Given the description of an element on the screen output the (x, y) to click on. 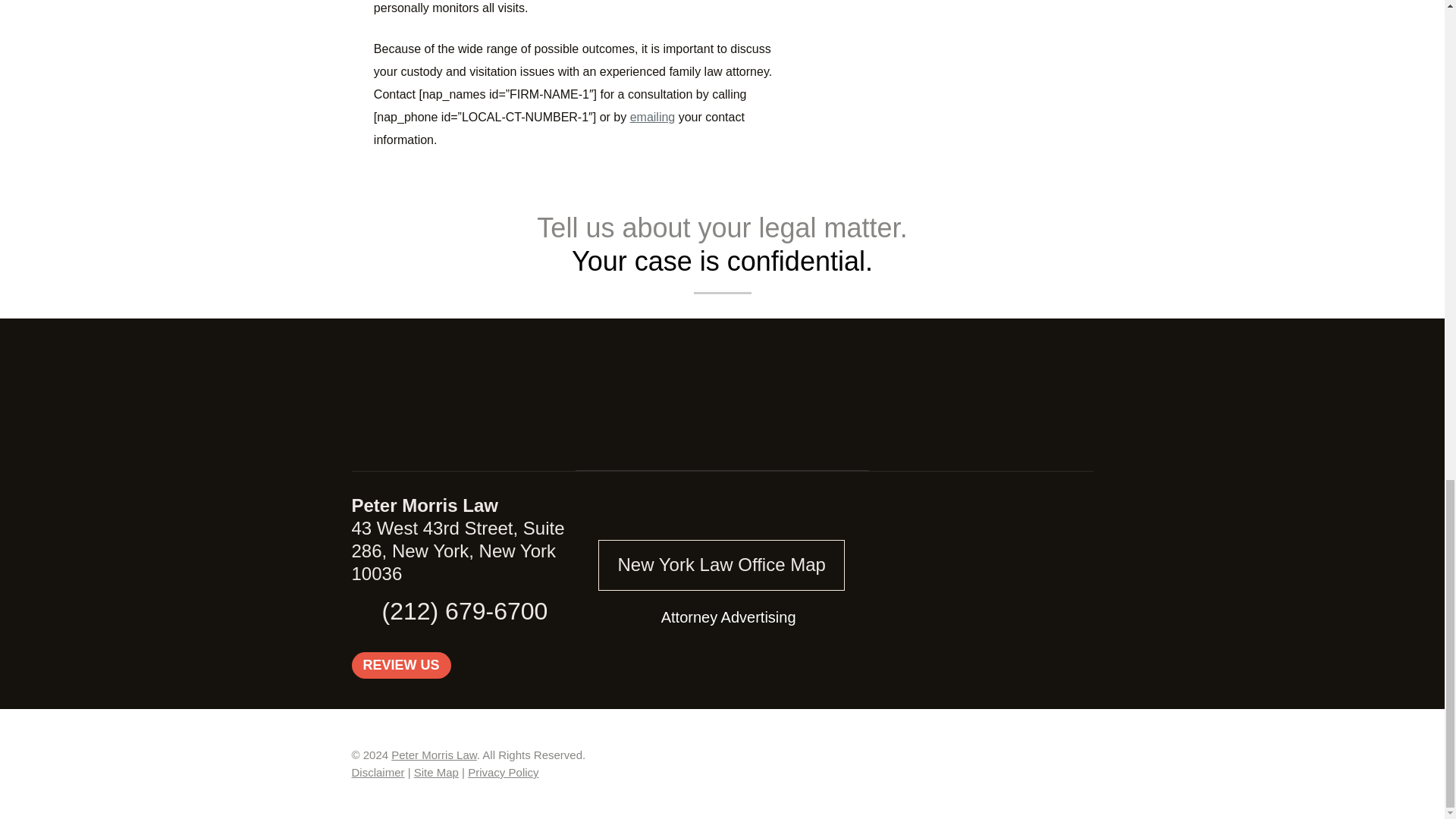
emailing (652, 116)
New York Law Office Map (721, 564)
Disclaimer (378, 771)
REVIEW US (401, 665)
title-contact-info (722, 396)
Peter Morris Law (434, 754)
Privacy Policy (502, 771)
Site Map (435, 771)
